Given the description of an element on the screen output the (x, y) to click on. 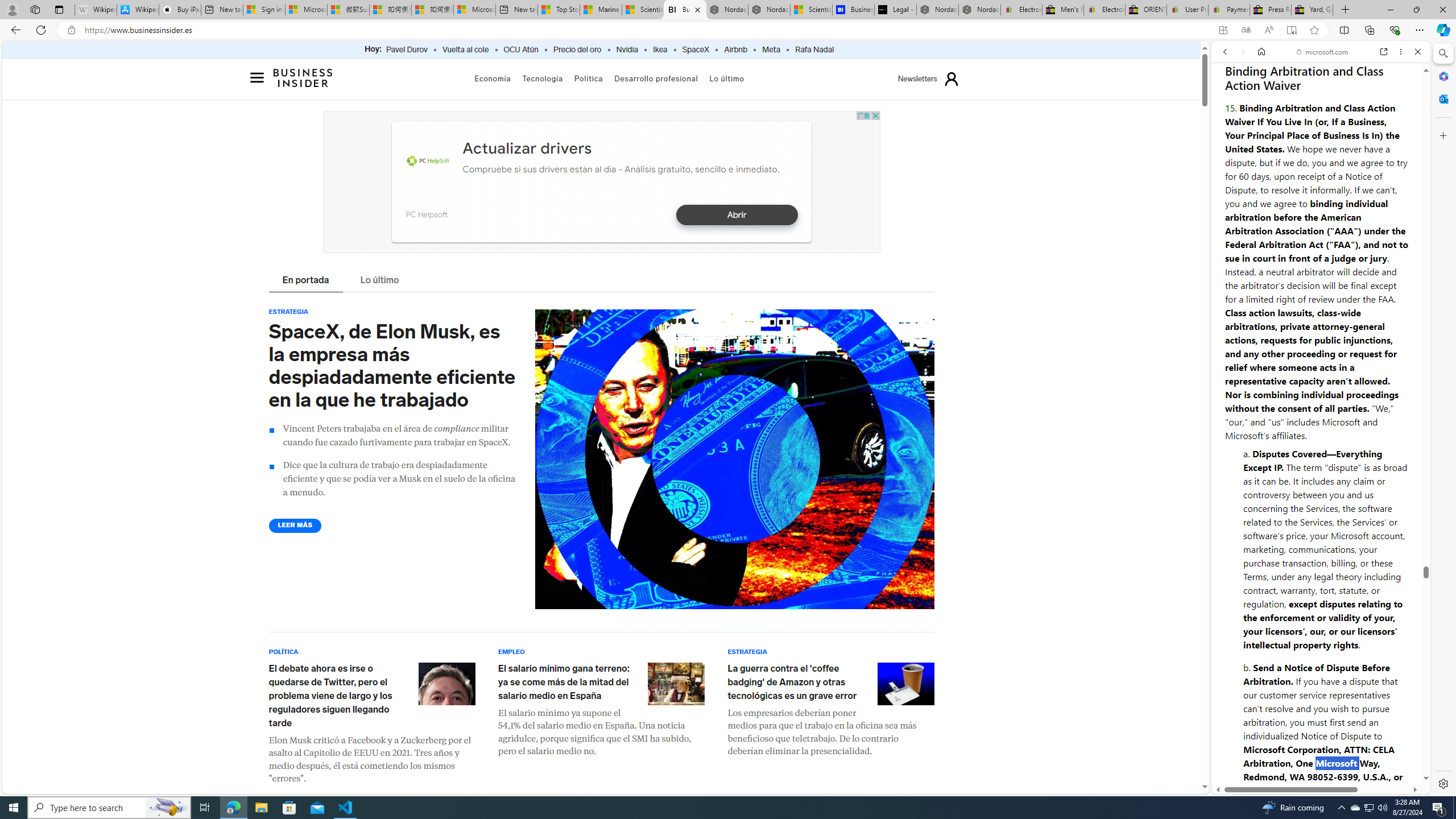
Ikea (660, 49)
microsoft.com (1323, 51)
Vuelta al cole (465, 49)
Nvidia (626, 49)
